Given the description of an element on the screen output the (x, y) to click on. 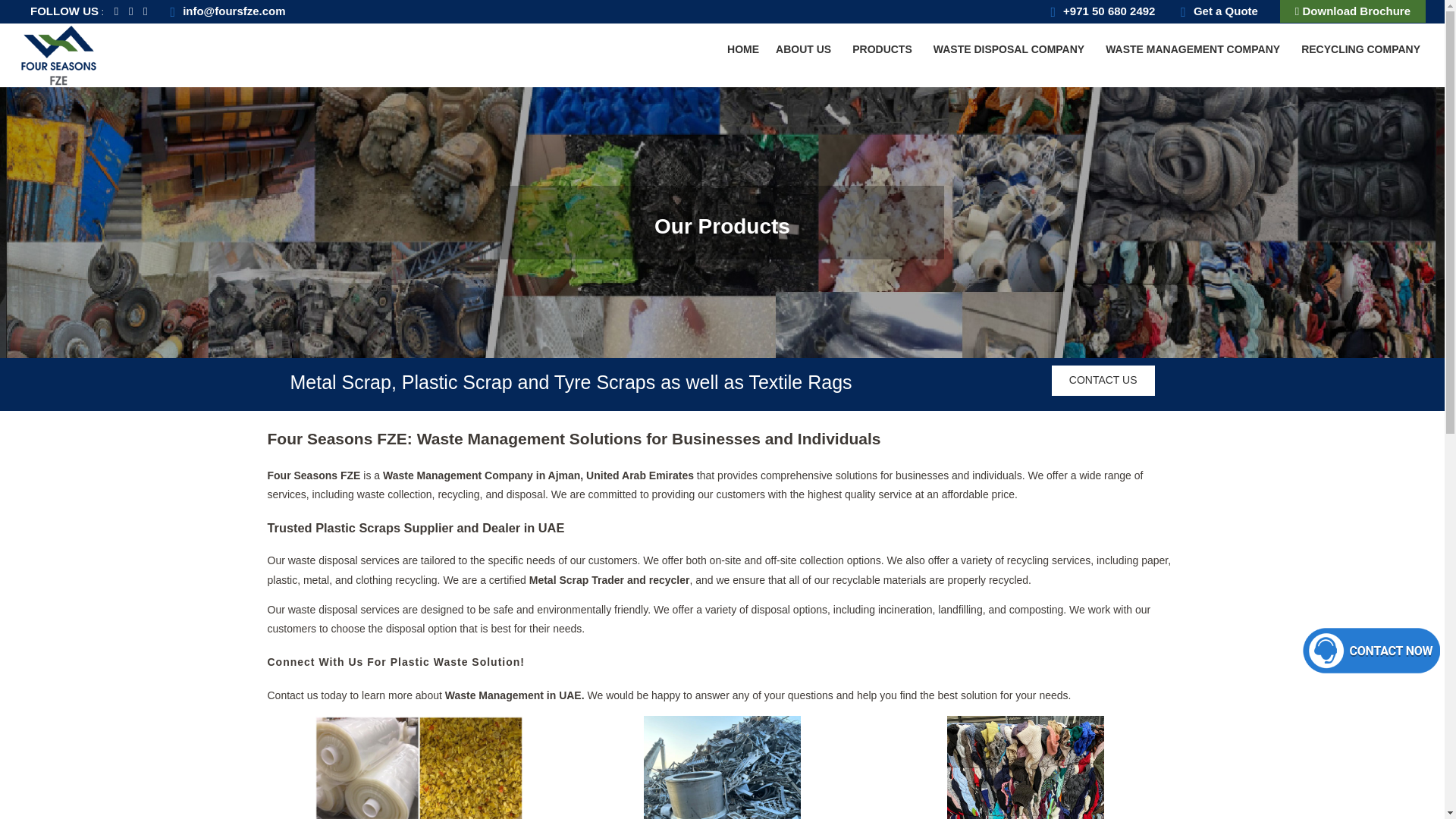
Download Brochure (1352, 11)
Products (884, 49)
Home (743, 49)
About Us (805, 49)
Four Seasons FZE (58, 54)
Download Brochure (1352, 11)
Four Seasons FZE (1362, 49)
ABOUT US (58, 53)
HOME (805, 49)
Get a Quote (743, 49)
Waste Management Company (1216, 10)
Waste Disposal Company (1194, 49)
Get a Quote (1010, 49)
